Given the description of an element on the screen output the (x, y) to click on. 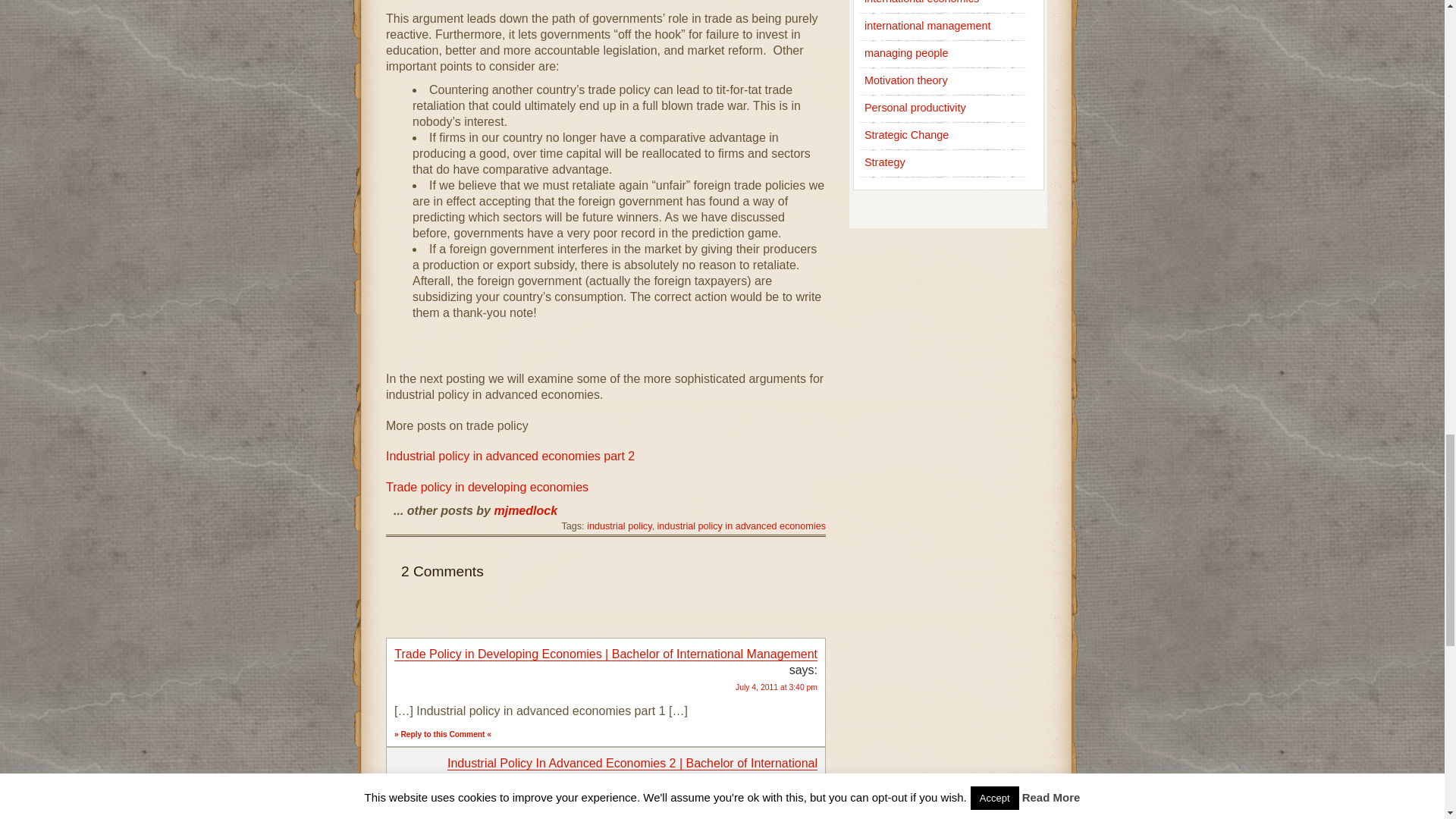
Strategic Change (906, 134)
managing people (905, 52)
industrial policy (618, 525)
July 4, 2011 at 3:40 pm (775, 687)
July 4, 2011 at 3:41 pm (775, 796)
international management (927, 25)
Trade policy in developing economies (486, 486)
Strategy (884, 162)
Motivation theory (905, 80)
mjmedlock (525, 510)
Industrial policy in advanced economies part 2 (509, 455)
Personal productivity (915, 107)
international economics (921, 2)
Trade Policy in Developing Economies (486, 486)
industrial policy in advanced economies (741, 525)
